Given the description of an element on the screen output the (x, y) to click on. 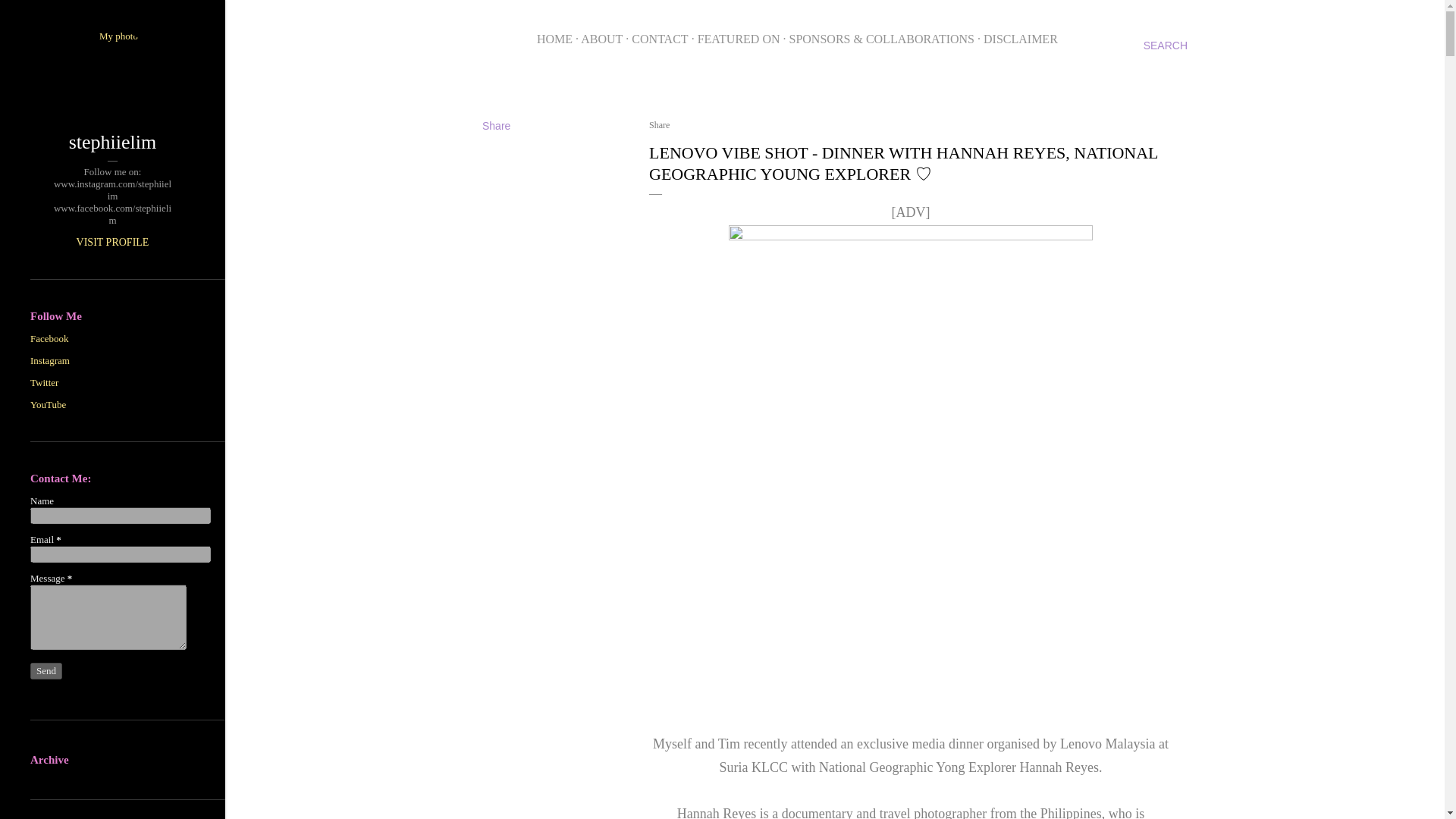
Send (46, 670)
HOME (554, 38)
DISCLAIMER (1021, 38)
FEATURED ON (738, 38)
Share (659, 125)
ABOUT (601, 38)
CONTACT (659, 38)
SEARCH (1165, 45)
Share (496, 125)
